Given the description of an element on the screen output the (x, y) to click on. 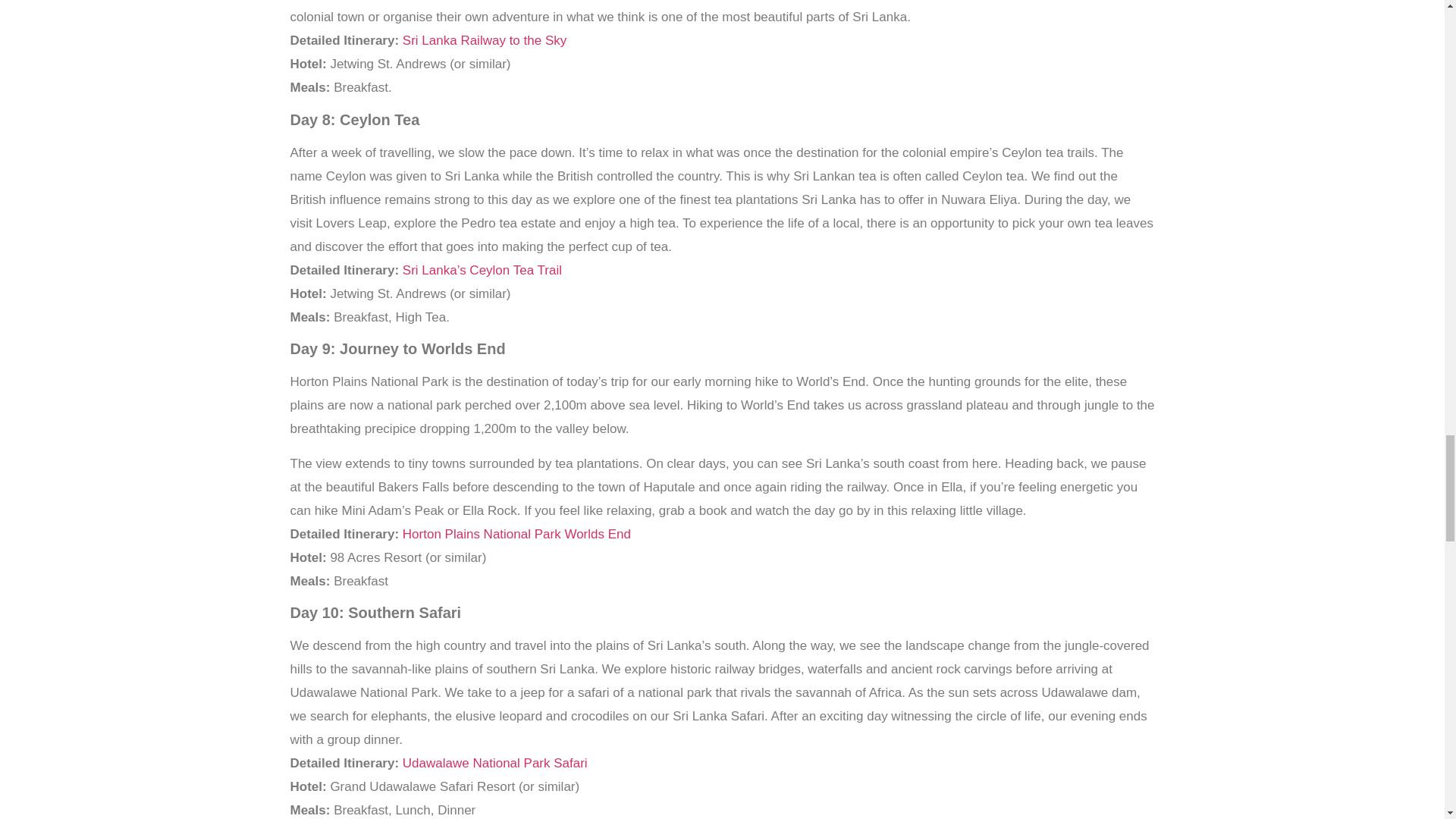
Page 5 (721, 49)
Udawalawe National Park Safari (495, 762)
Horton Plains National Park Worlds End (516, 534)
Sri Lanka Railway to the Sky (484, 40)
